Given the description of an element on the screen output the (x, y) to click on. 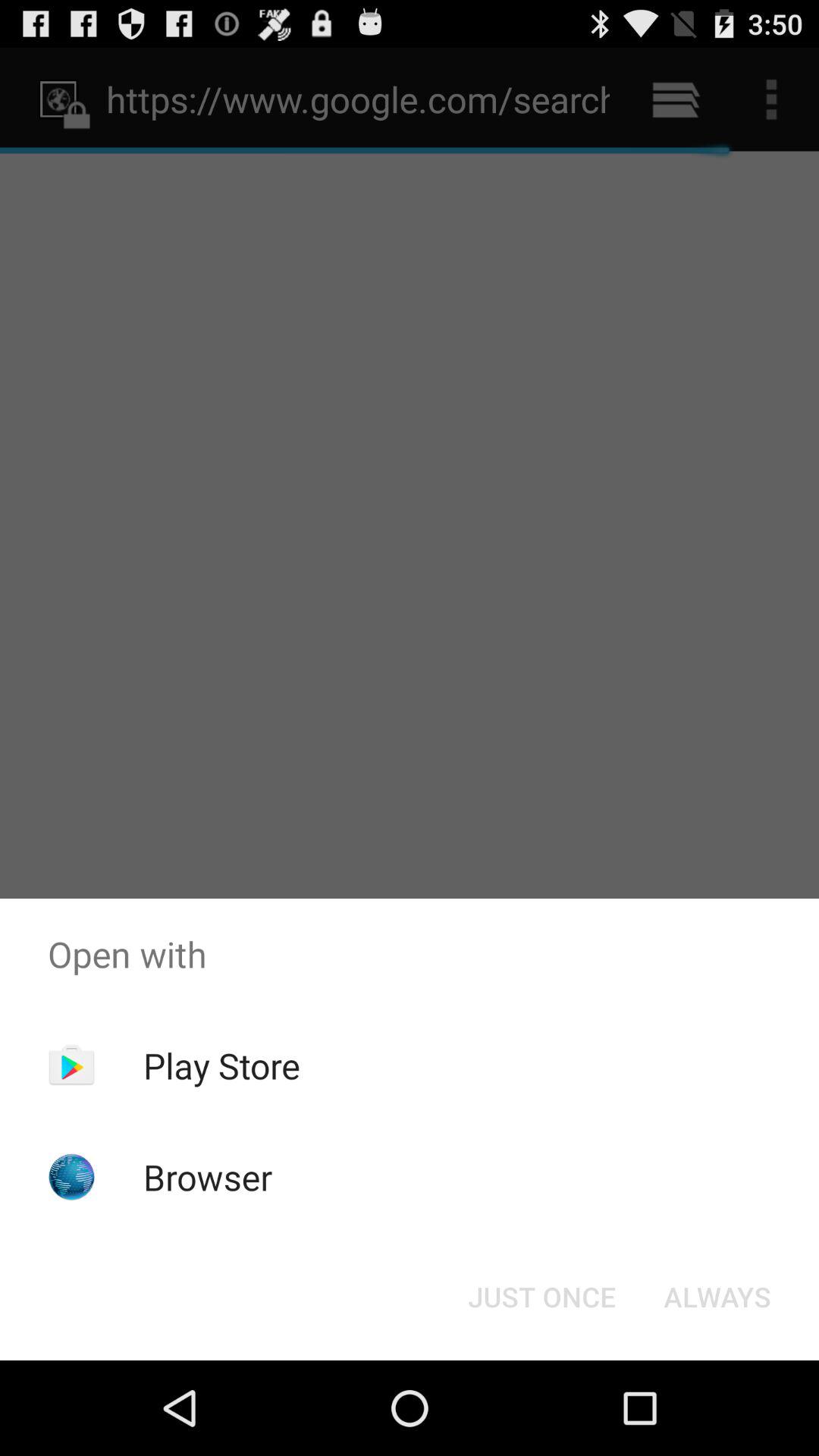
tap the icon below the play store item (207, 1176)
